Given the description of an element on the screen output the (x, y) to click on. 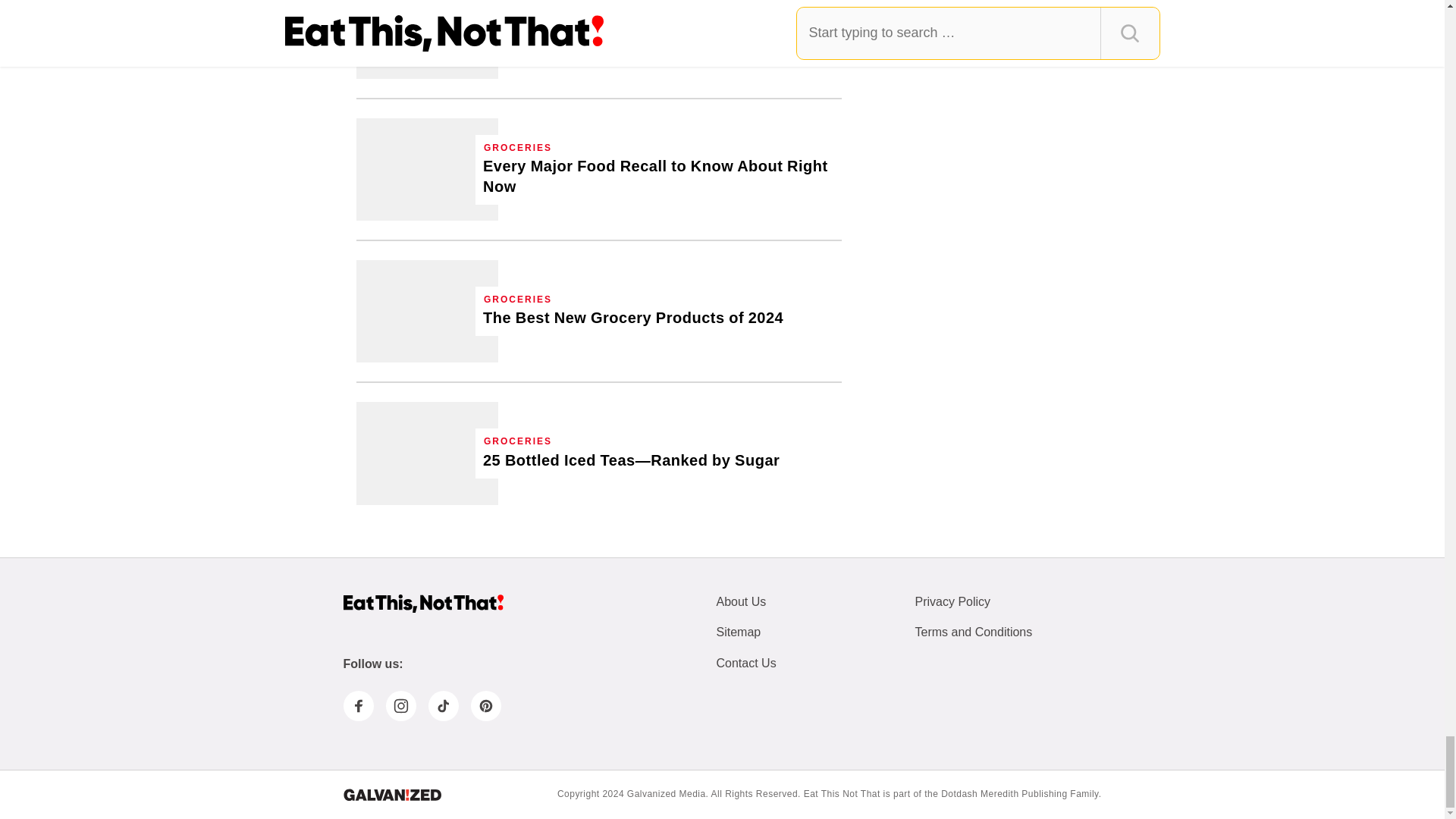
25 Unhealthiest Chips on the Planet (426, 39)
25 Unhealthiest Chips on the Planet (617, 34)
The Best New Grocery Products of 2024 (633, 317)
The Best New Grocery Products of 2024 (426, 311)
